Given the description of an element on the screen output the (x, y) to click on. 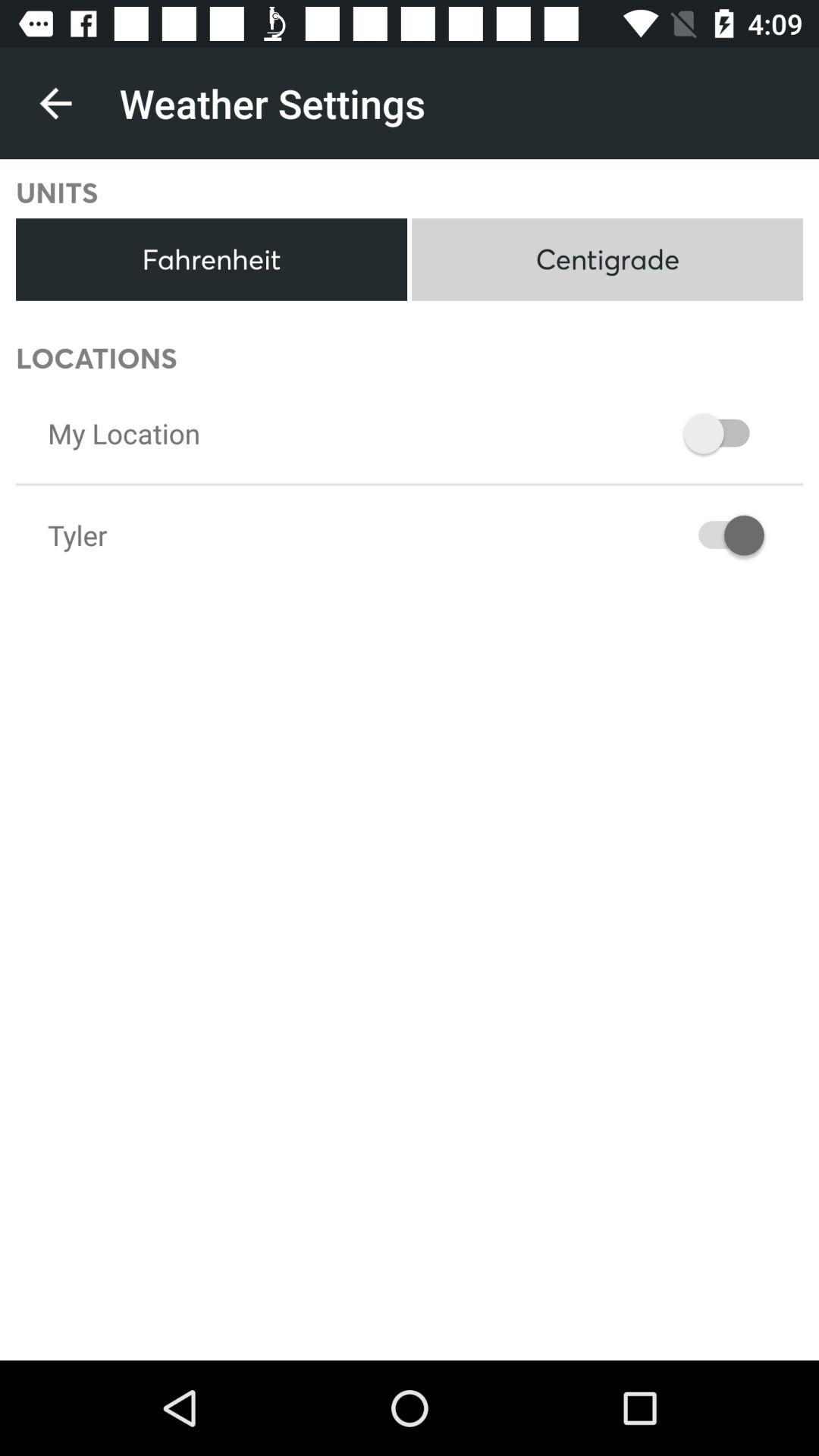
turn off icon below the locations icon (123, 433)
